Given the description of an element on the screen output the (x, y) to click on. 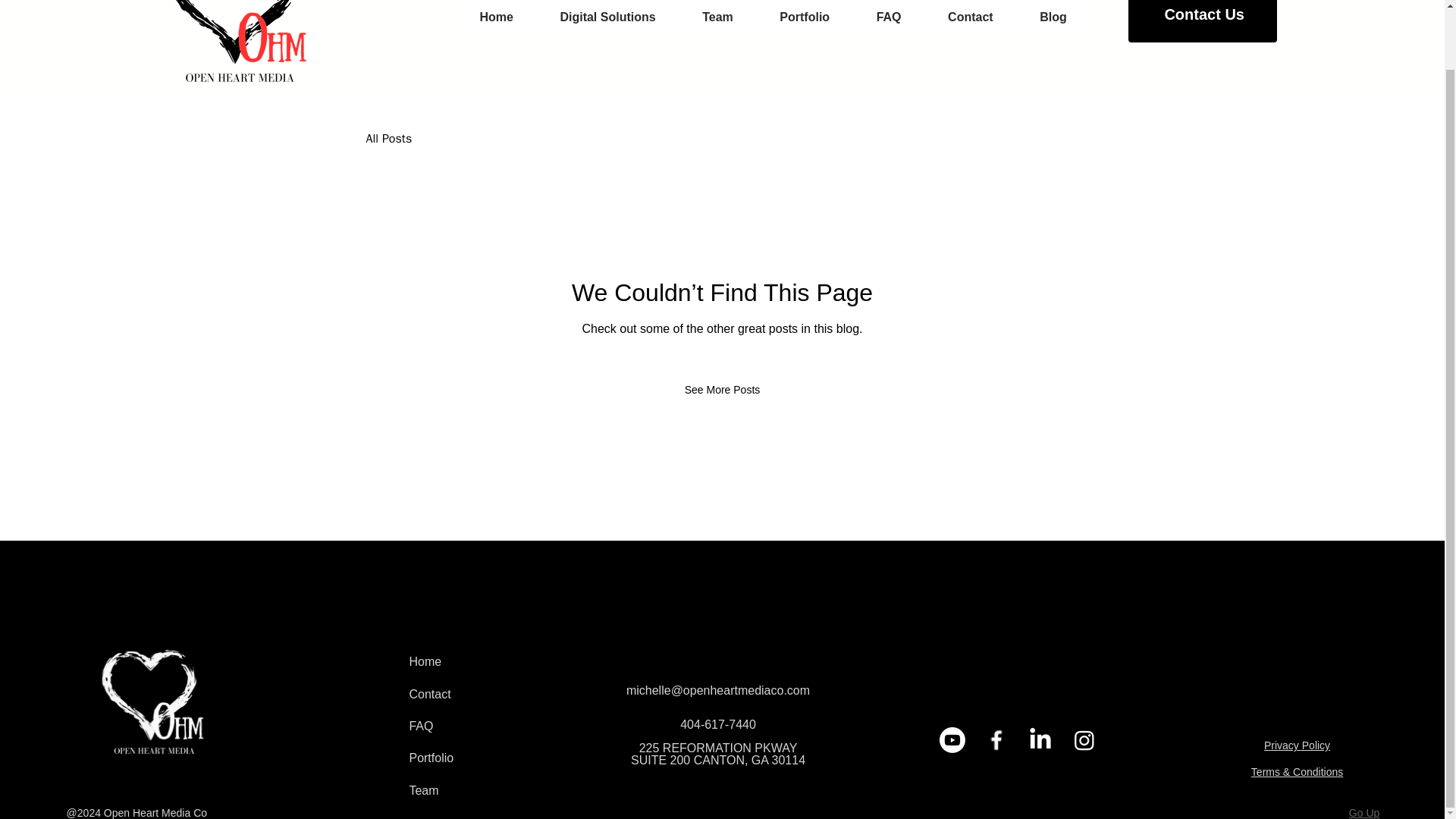
Team (716, 17)
Contact (475, 694)
Portfolio (475, 757)
Contact (970, 17)
Privacy Policy (1296, 745)
Home (497, 17)
Home (475, 662)
See More Posts (722, 389)
FAQ (888, 17)
Team (475, 790)
FAQ (475, 726)
Blog (1052, 17)
All Posts (388, 139)
Contact Us (1202, 21)
Portfolio (805, 17)
